Given the description of an element on the screen output the (x, y) to click on. 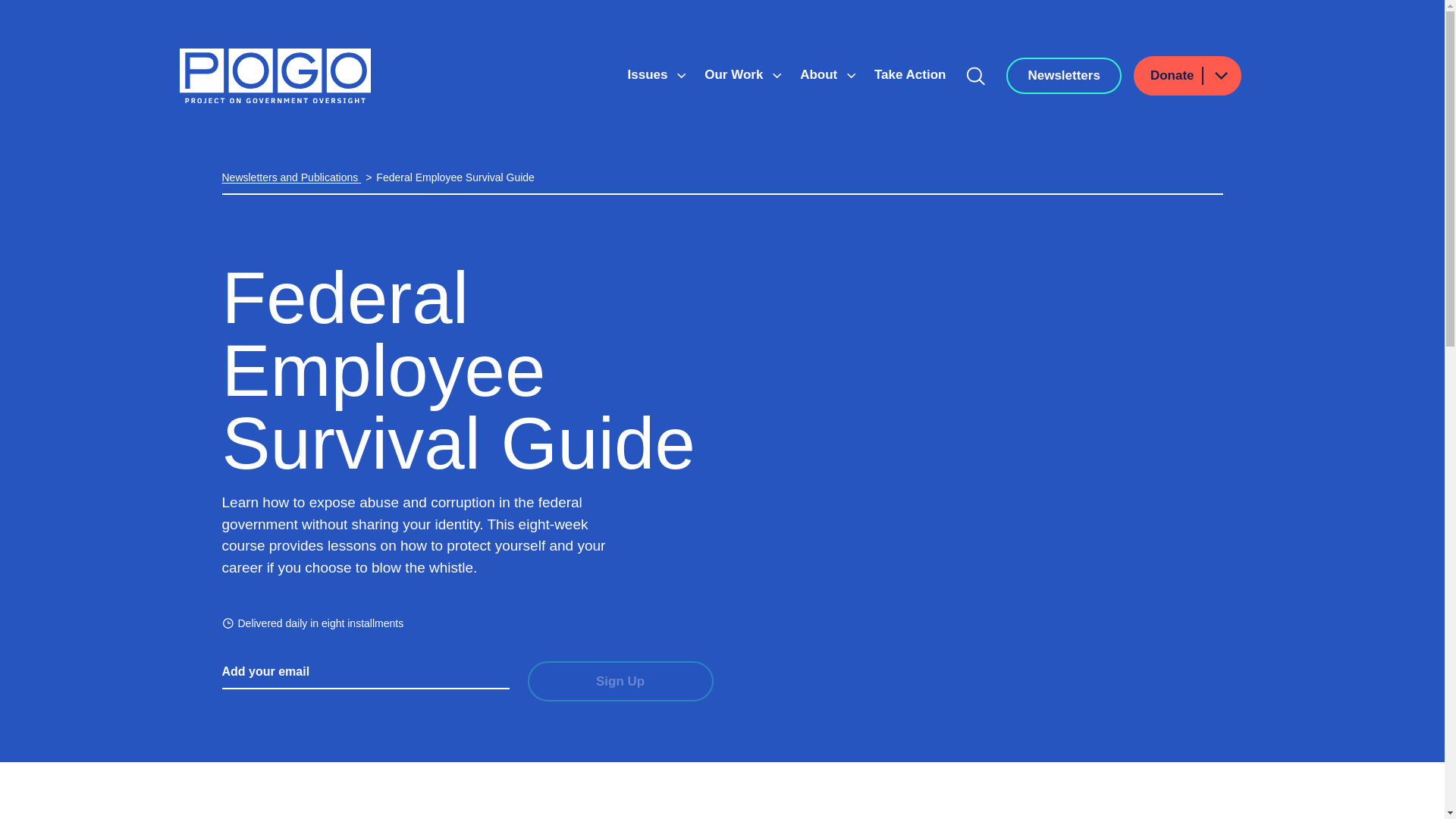
Show submenu for About (851, 75)
Home (274, 75)
Show submenu for Issues (681, 75)
Donate (1187, 75)
Take Action (909, 74)
Search (976, 75)
Show submenu for Our Work (777, 75)
Show submenu for Donate (1220, 75)
About (820, 74)
Newsletters (1063, 75)
Sign Up (620, 680)
Our Work (735, 74)
Issues (649, 74)
